Given the description of an element on the screen output the (x, y) to click on. 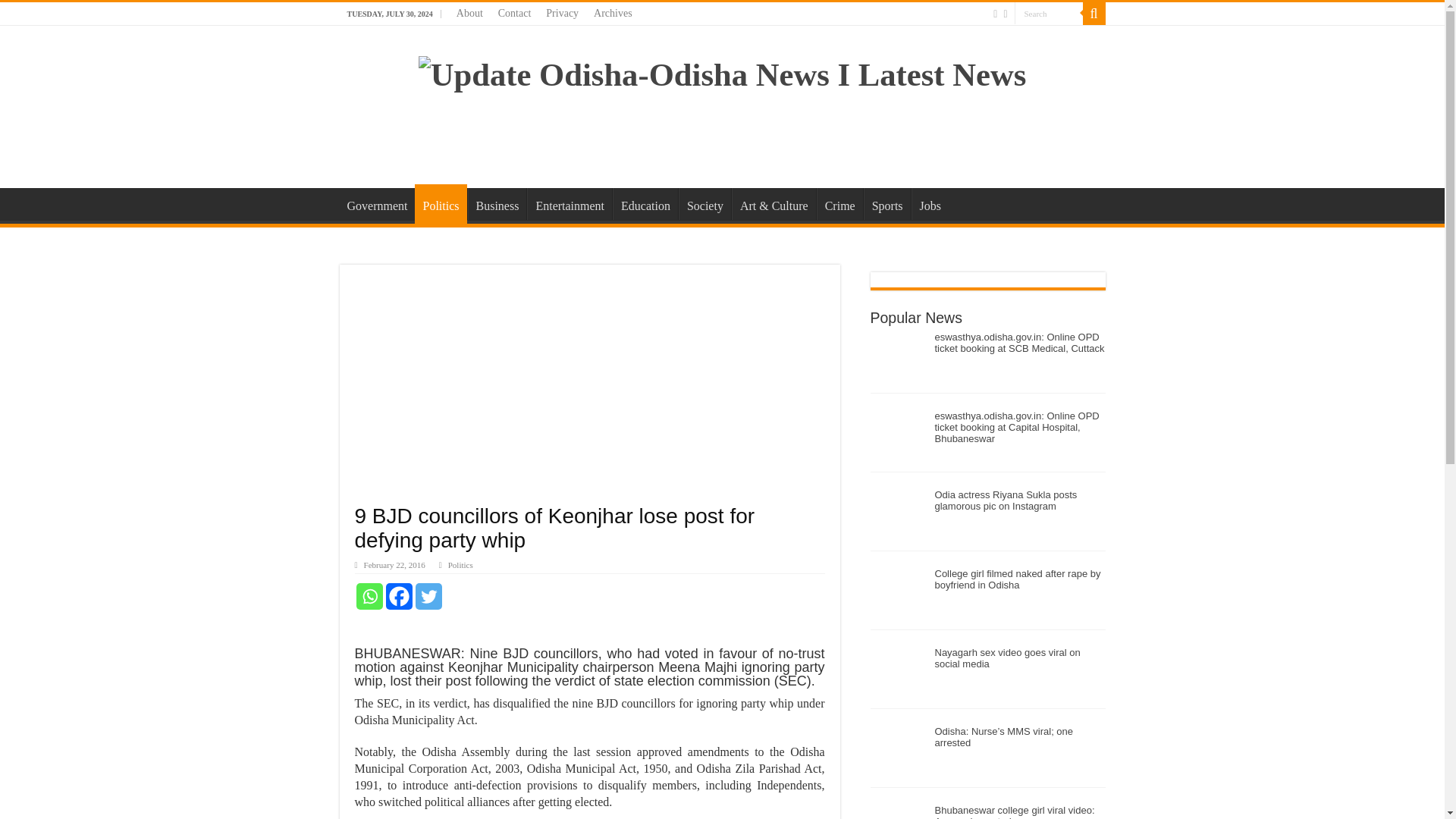
Privacy (562, 13)
Sports (887, 204)
Government (376, 204)
Search (1048, 13)
Twitter (428, 596)
Update Odisha-Odisha News I Latest News (722, 70)
Politics (460, 564)
Archives (613, 13)
Whatsapp (369, 596)
Politics (439, 203)
Search (1048, 13)
Crime (839, 204)
Facebook (398, 596)
